Given the description of an element on the screen output the (x, y) to click on. 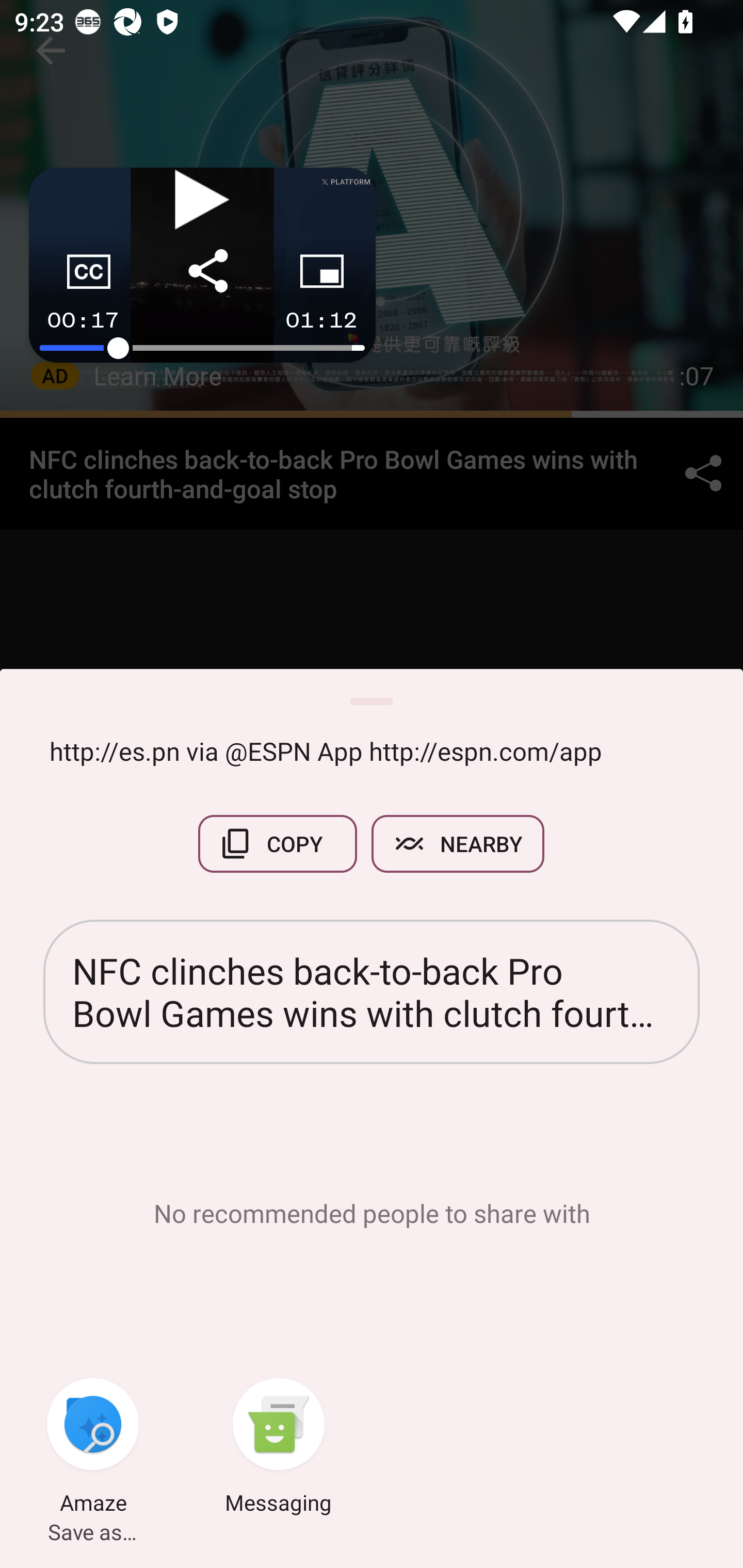
COPY (277, 844)
NEARBY (457, 844)
Amaze Save as… (92, 1448)
Messaging (278, 1448)
